Given the description of an element on the screen output the (x, y) to click on. 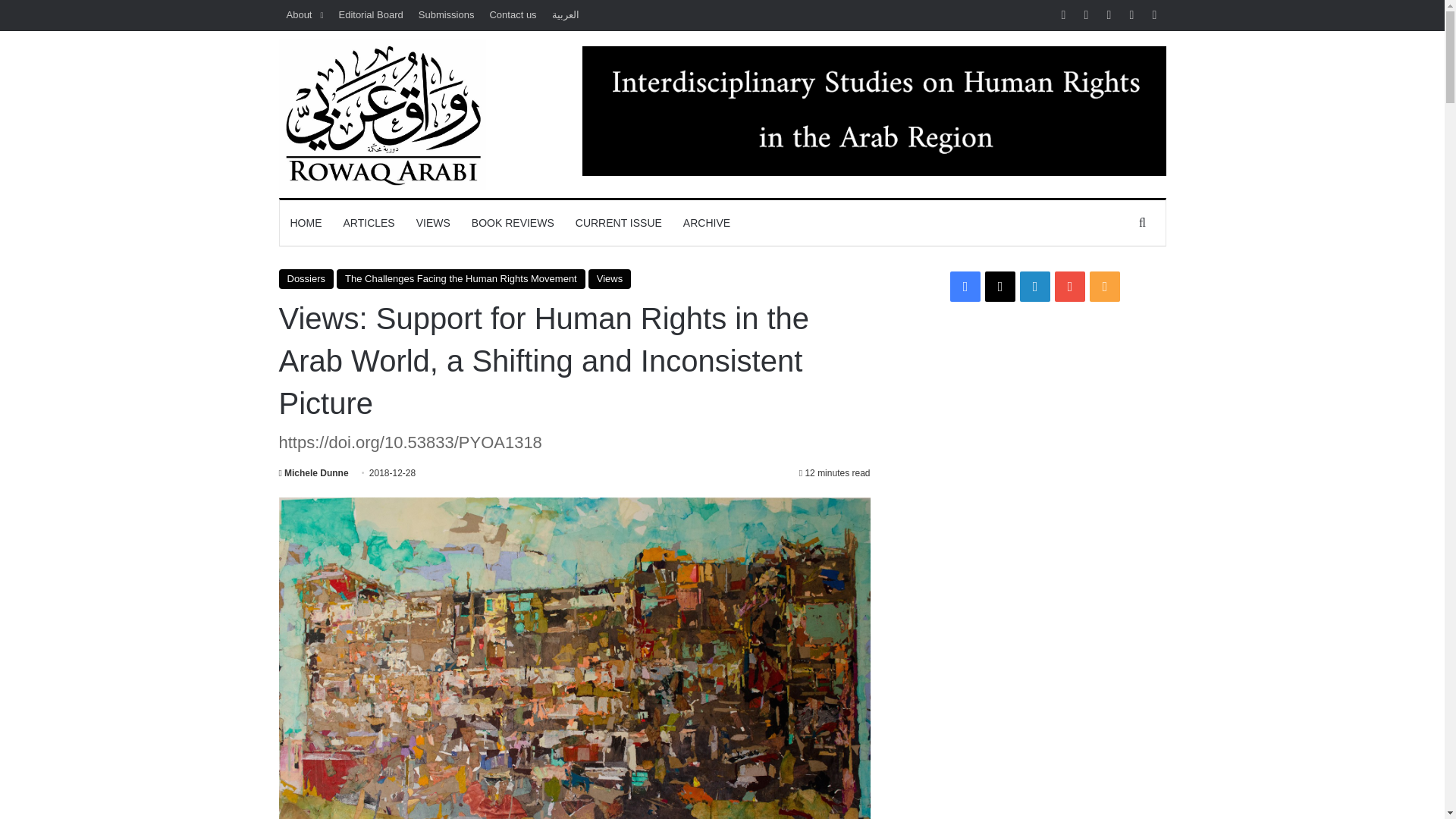
Michele Dunne (314, 472)
Dossiers (306, 279)
Views (609, 279)
Contact us (512, 15)
VIEWS (433, 222)
BOOK REVIEWS (512, 222)
Editorial Board (370, 15)
The Challenges Facing the Human Rights Movement (460, 279)
ROWAQ ARABI (382, 114)
ARCHIVE (706, 222)
HOME (305, 222)
Submissions (445, 15)
CURRENT ISSUE (618, 222)
About (305, 15)
Michele Dunne (314, 472)
